Given the description of an element on the screen output the (x, y) to click on. 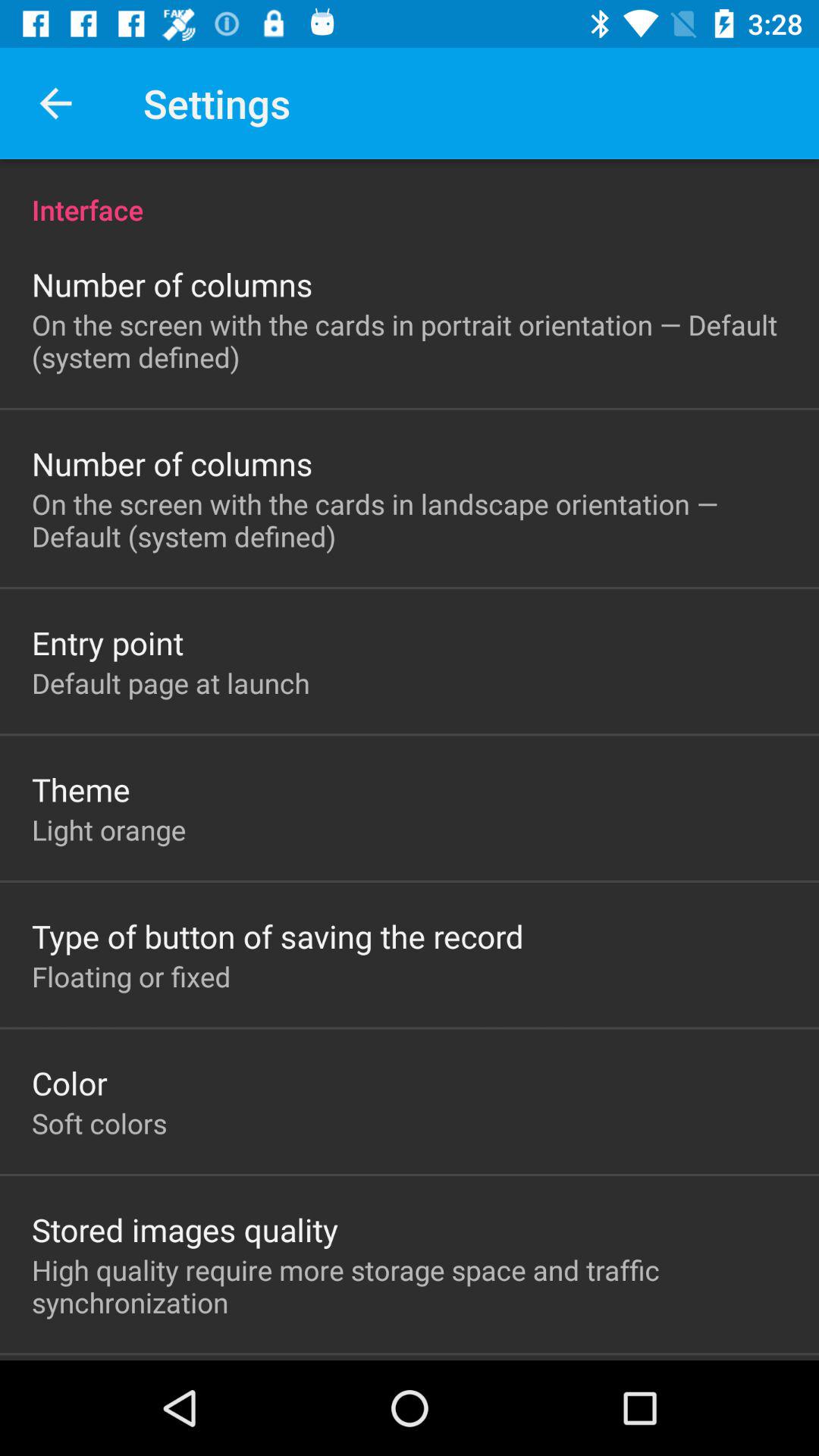
scroll to stored images quality icon (184, 1229)
